Given the description of an element on the screen output the (x, y) to click on. 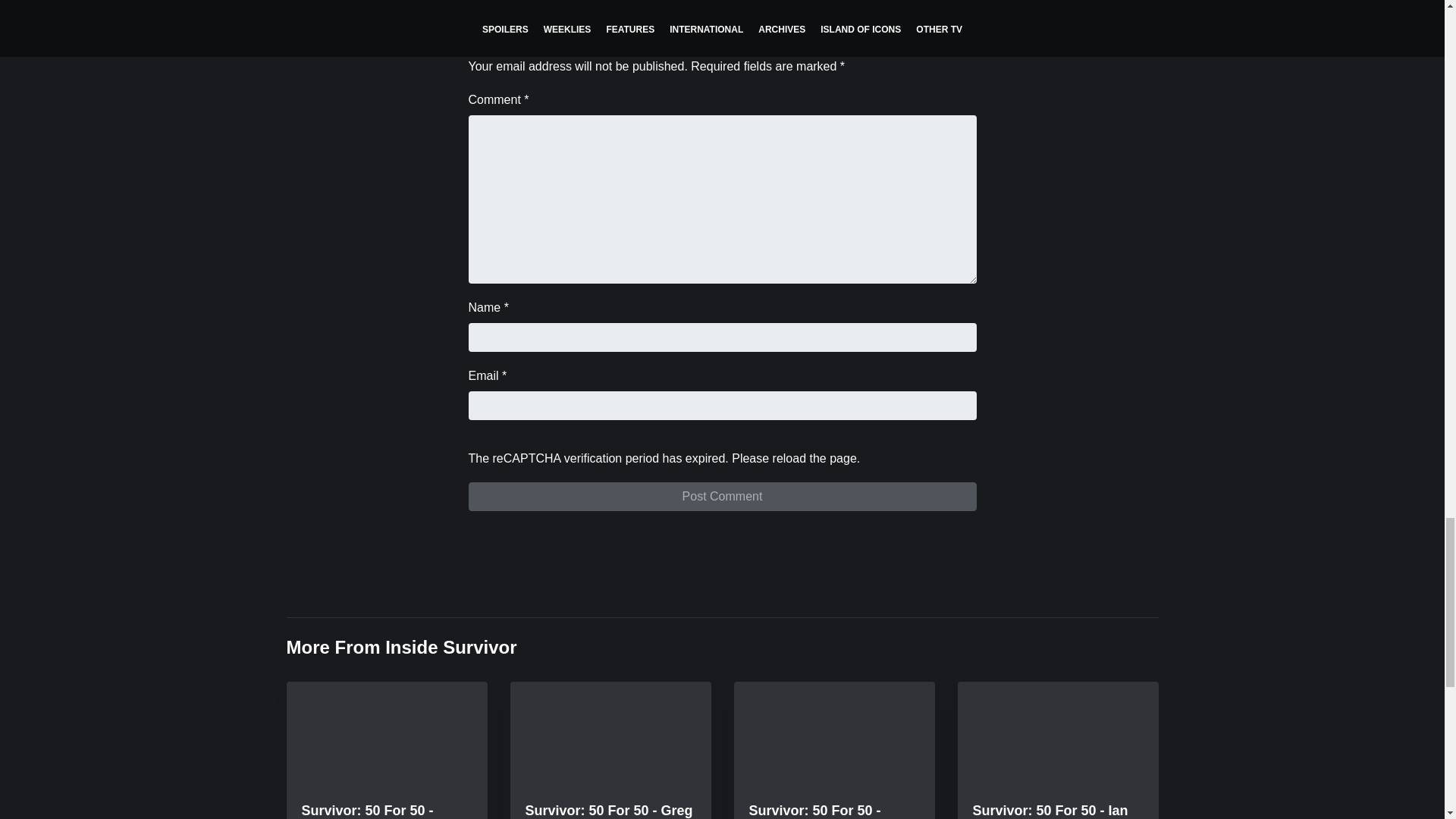
Post Comment (722, 496)
